Given the description of an element on the screen output the (x, y) to click on. 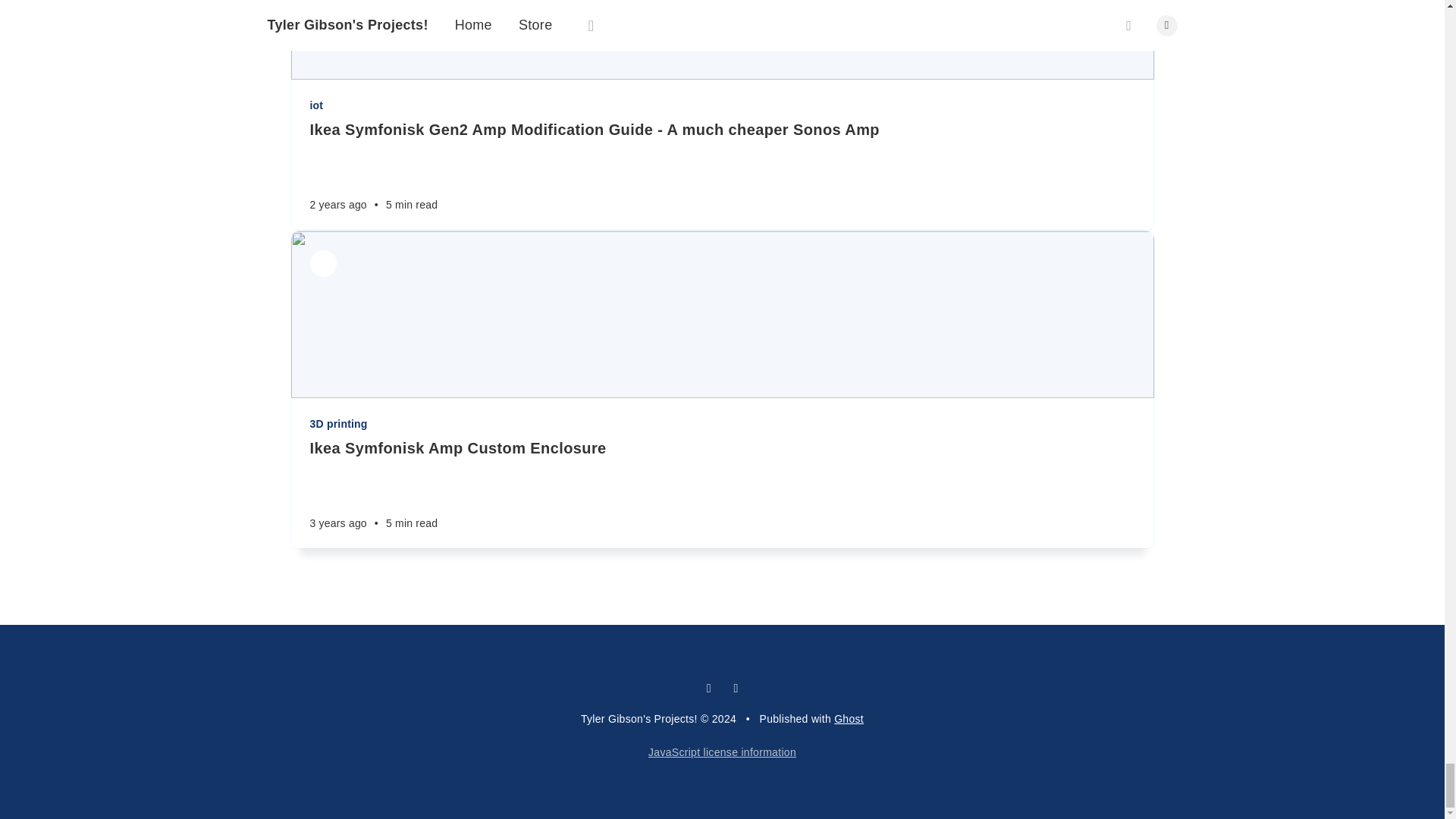
Ikea Symfonisk Amp Custom Enclosure (721, 447)
